Given the description of an element on the screen output the (x, y) to click on. 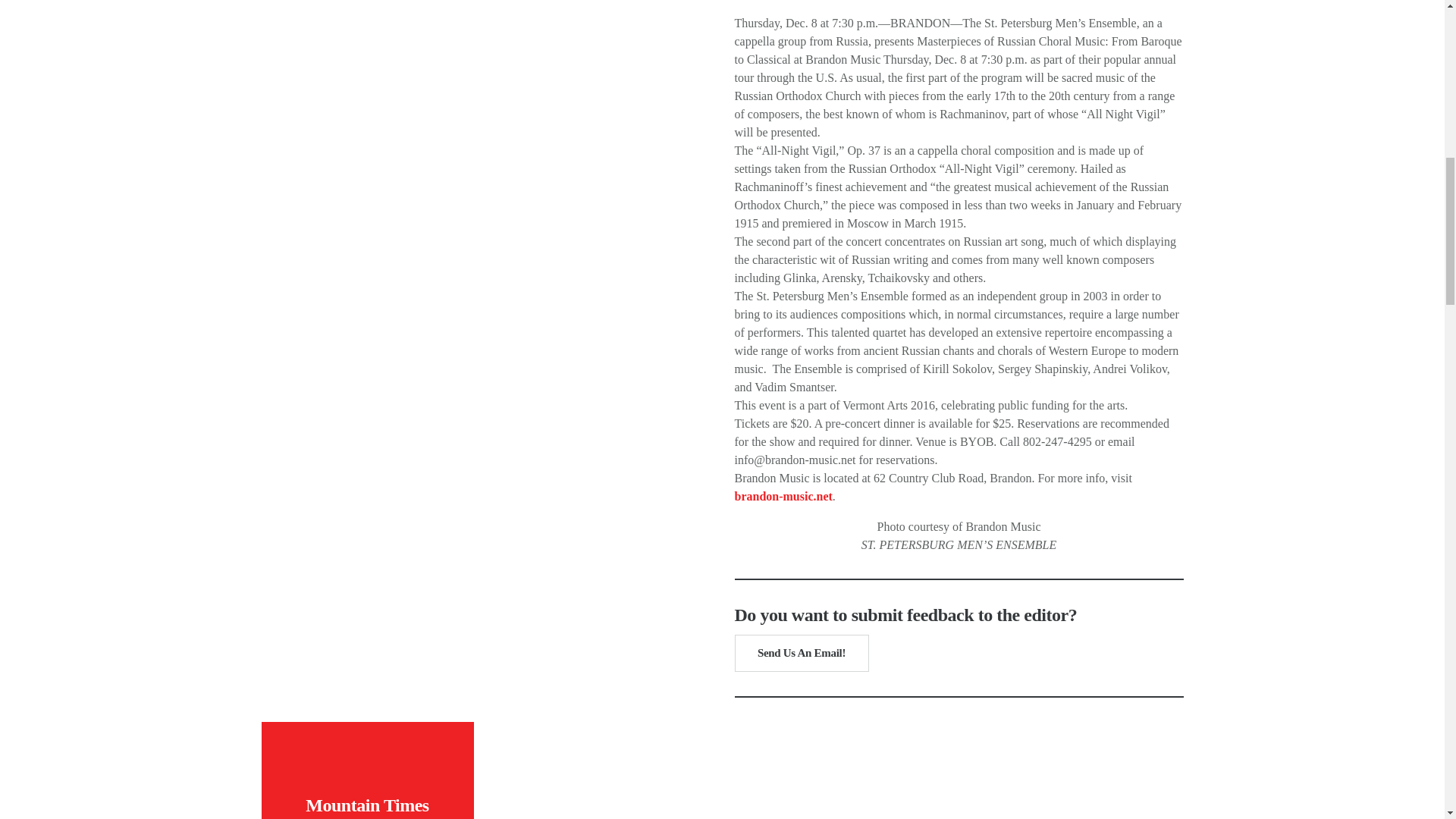
brandon-music.net (782, 495)
Send Us An Email! (800, 652)
